Given the description of an element on the screen output the (x, y) to click on. 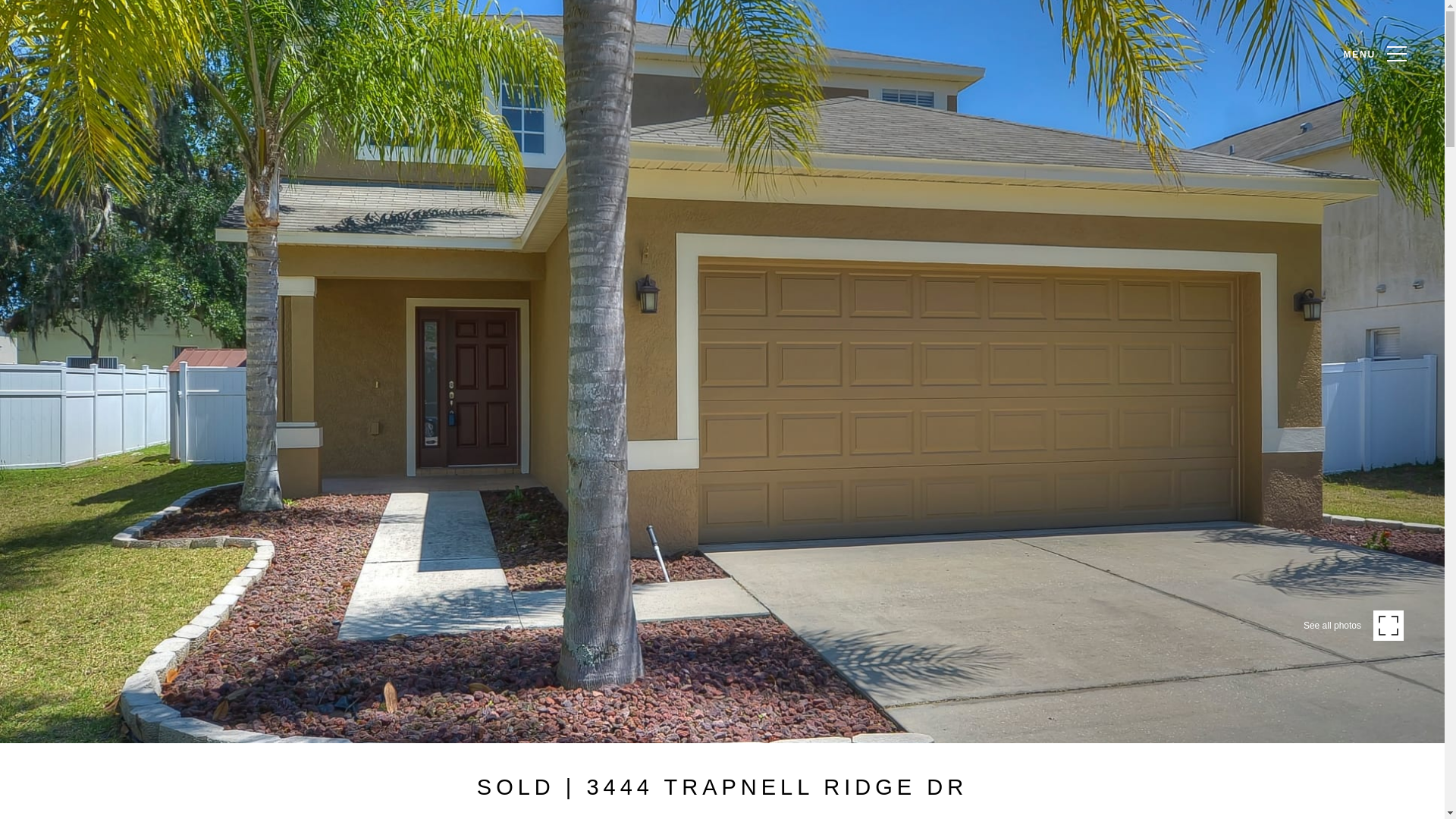
See all photos (1353, 625)
MENU (1370, 58)
